Given the description of an element on the screen output the (x, y) to click on. 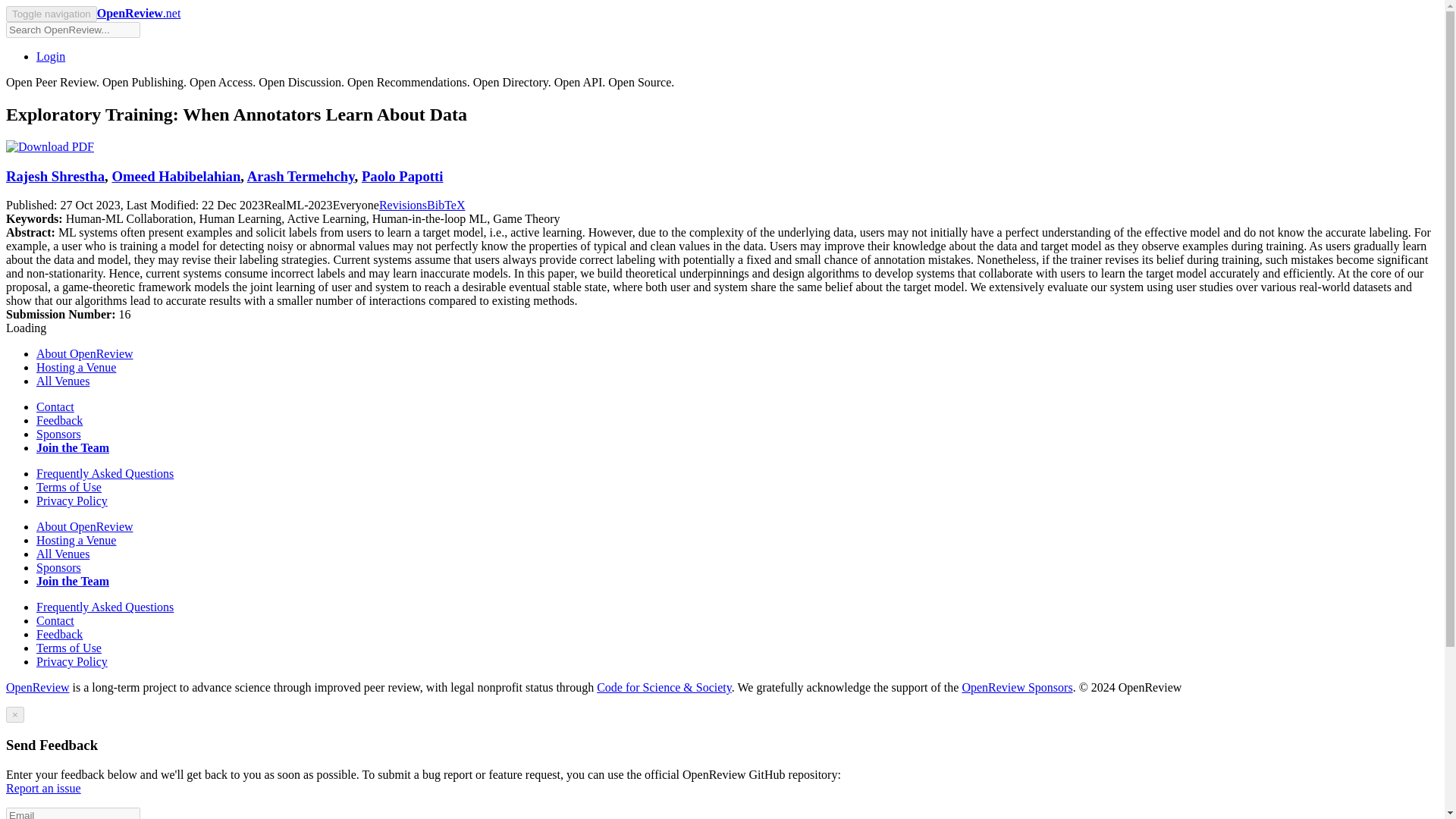
Rajesh Shrestha (54, 176)
Sponsors (58, 567)
Report an issue (43, 788)
OpenReview.net (138, 12)
About OpenReview (84, 353)
Privacy Policy (71, 661)
Frequently Asked Questions (104, 472)
Terms of Use (68, 647)
Contact (55, 620)
Paolo Papotti (402, 176)
Hosting a Venue (76, 540)
All Venues (62, 380)
All Venues (62, 553)
Sponsors (58, 433)
Feedback (59, 634)
